Given the description of an element on the screen output the (x, y) to click on. 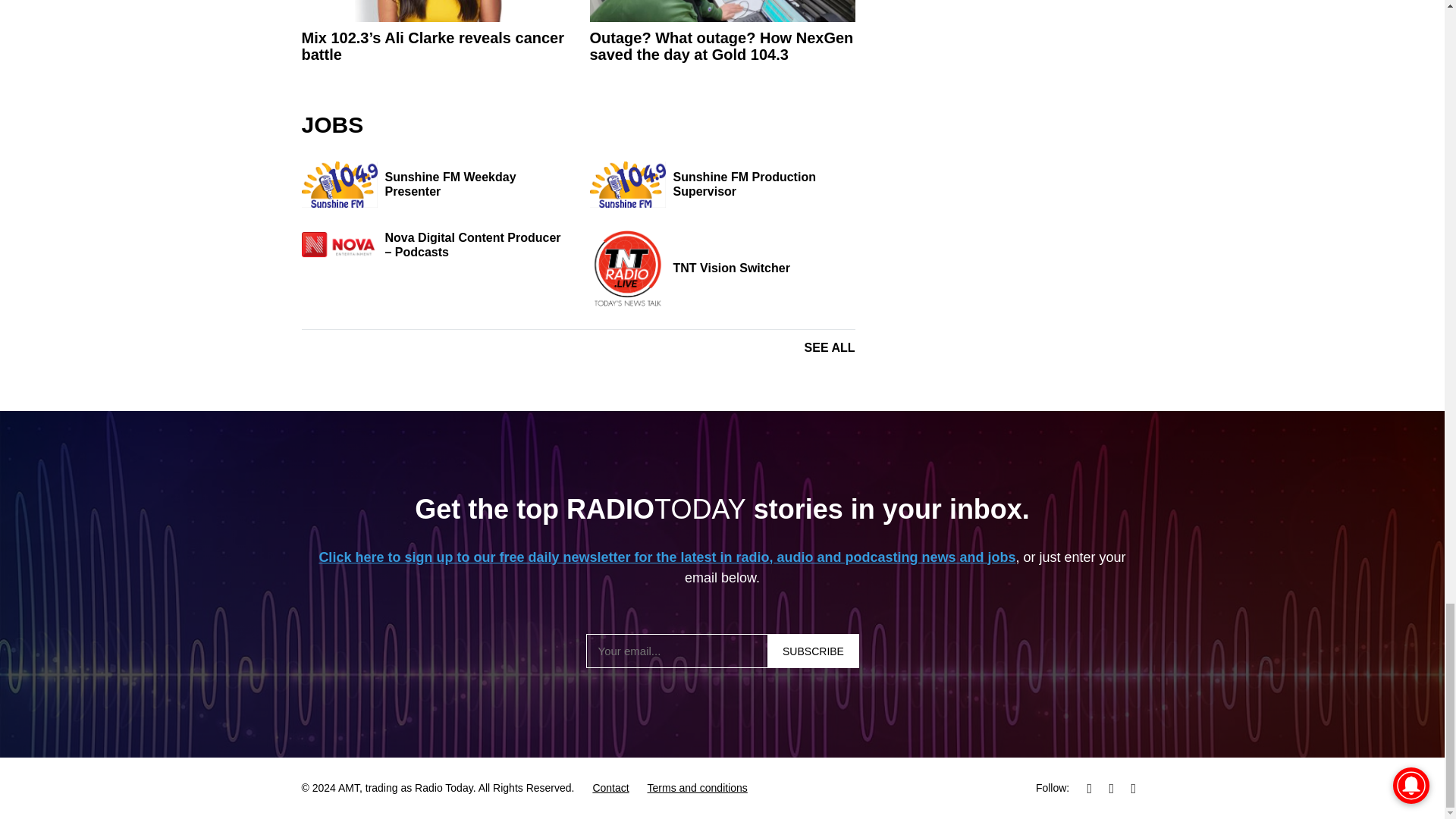
Subscribe (813, 650)
